Given the description of an element on the screen output the (x, y) to click on. 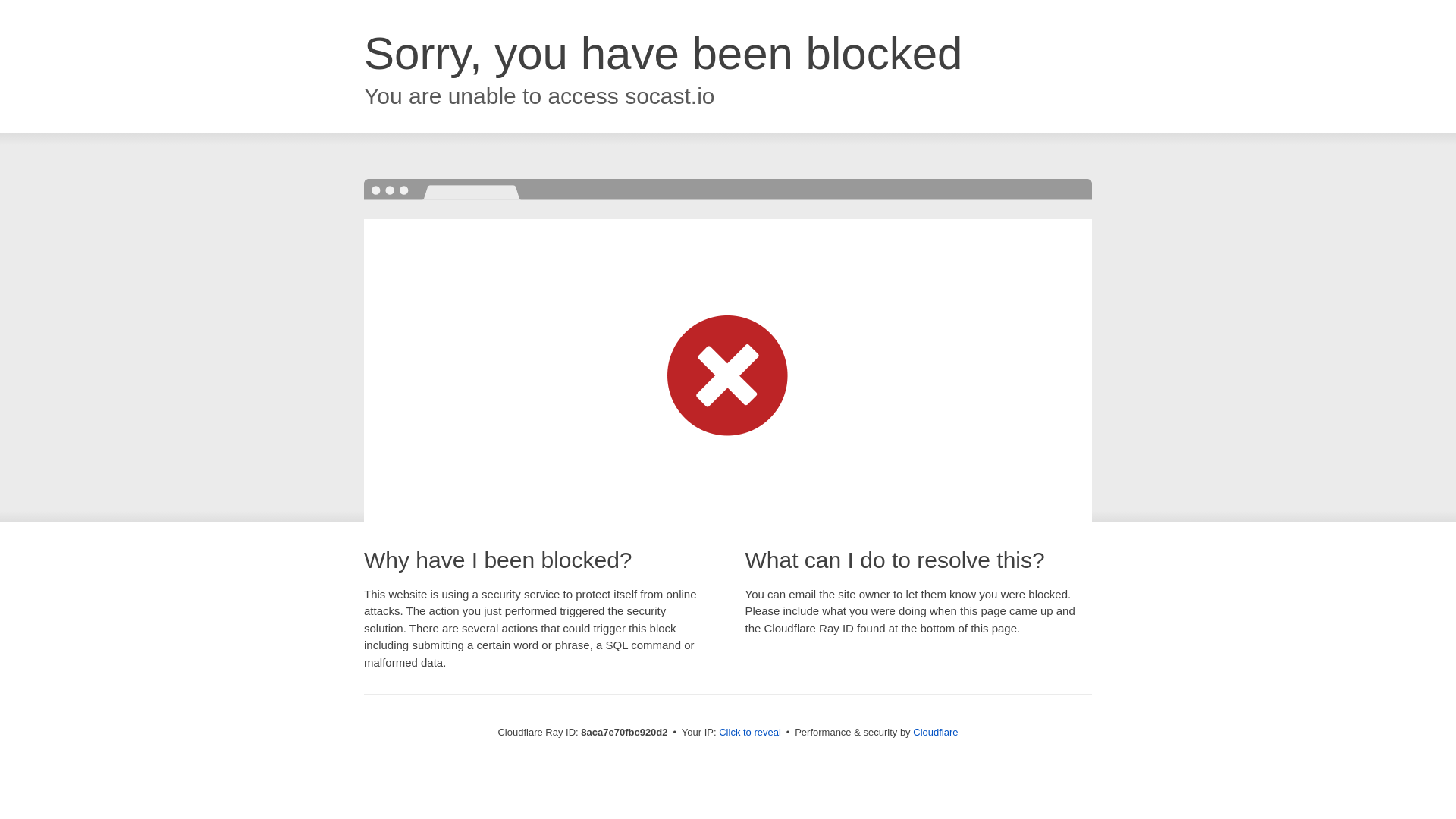
Click to reveal (749, 732)
Cloudflare (935, 731)
